Given the description of an element on the screen output the (x, y) to click on. 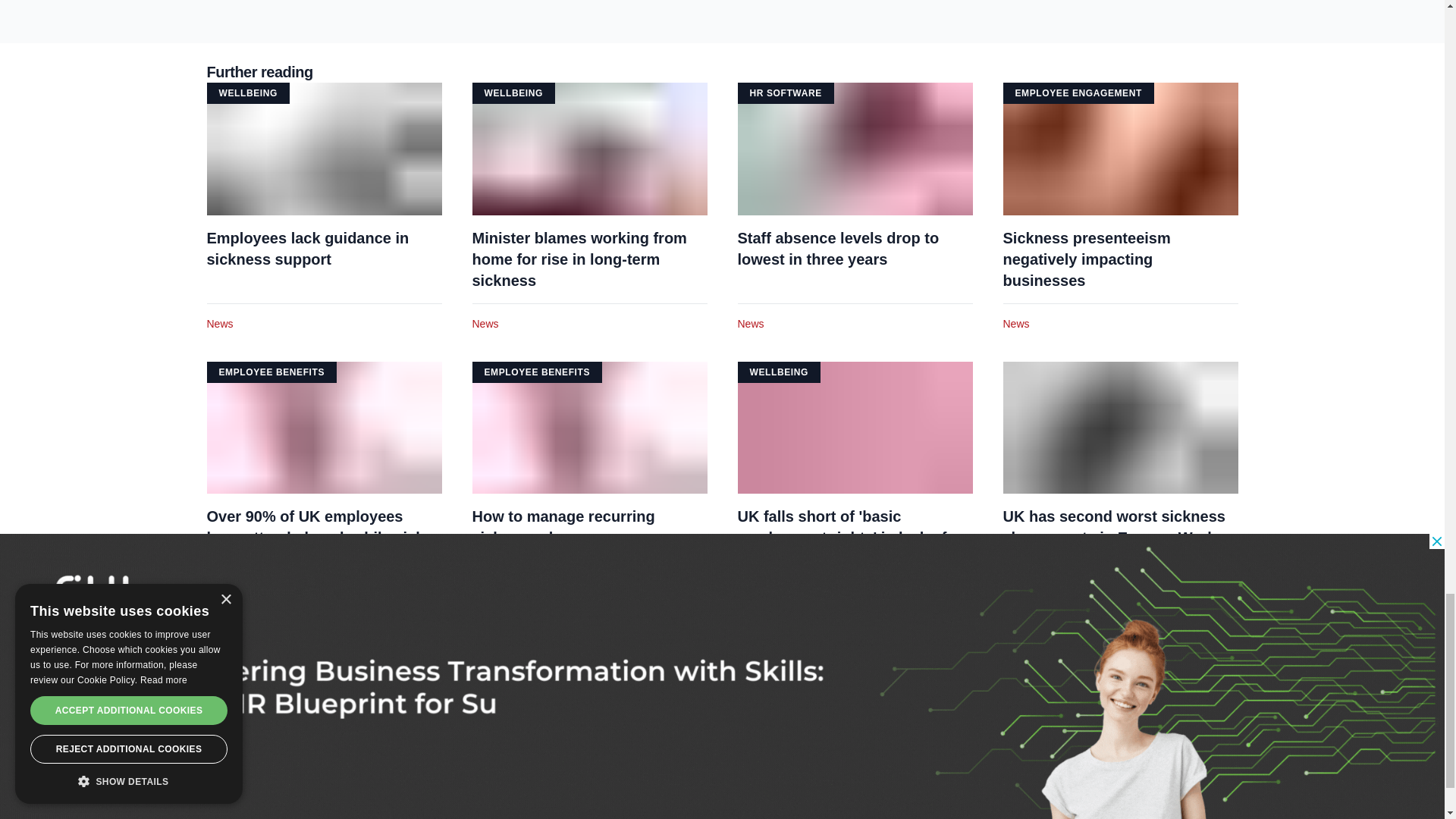
3rd party ad content (722, 12)
